Given the description of an element on the screen output the (x, y) to click on. 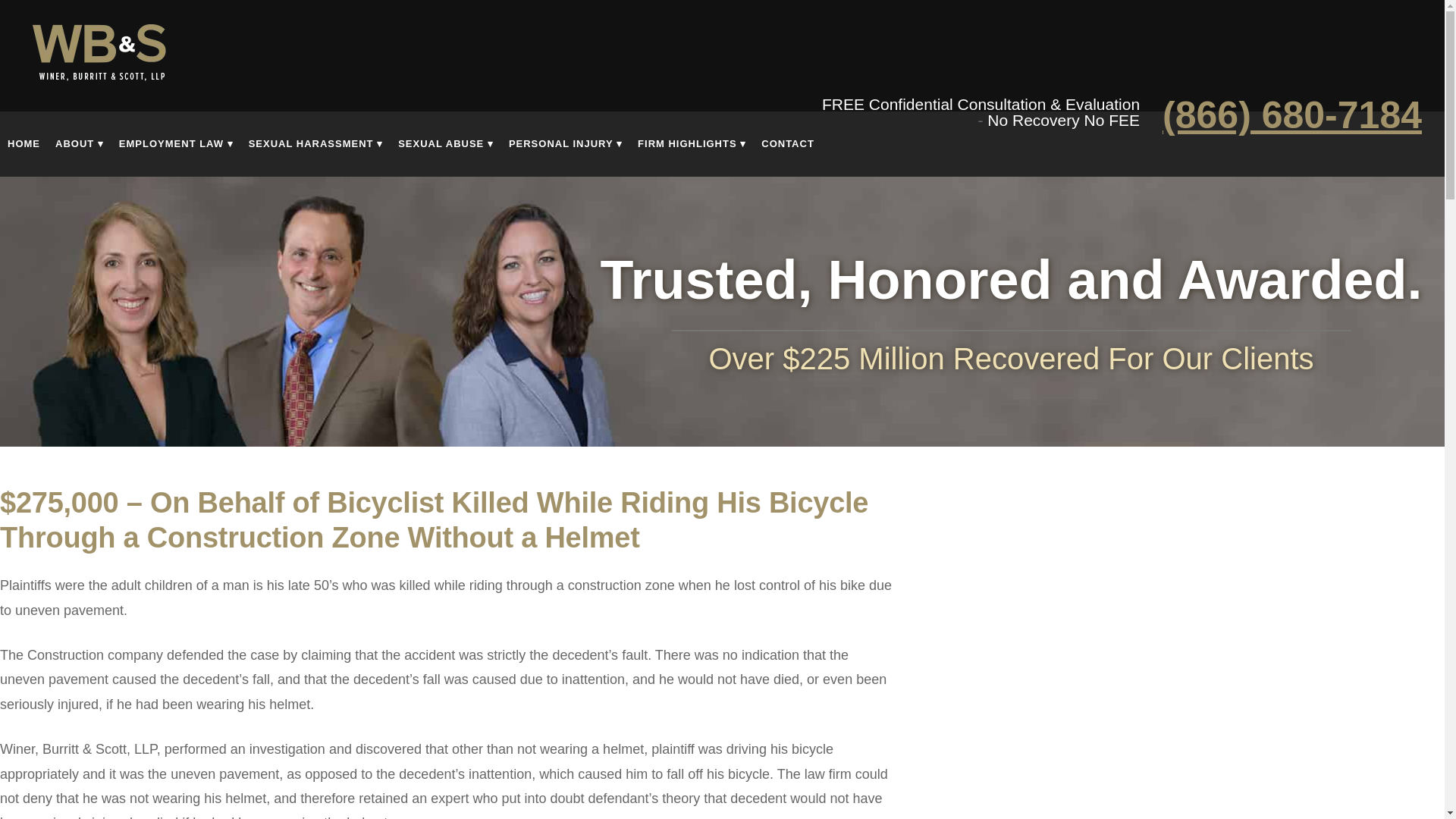
HOME (23, 155)
